Given the description of an element on the screen output the (x, y) to click on. 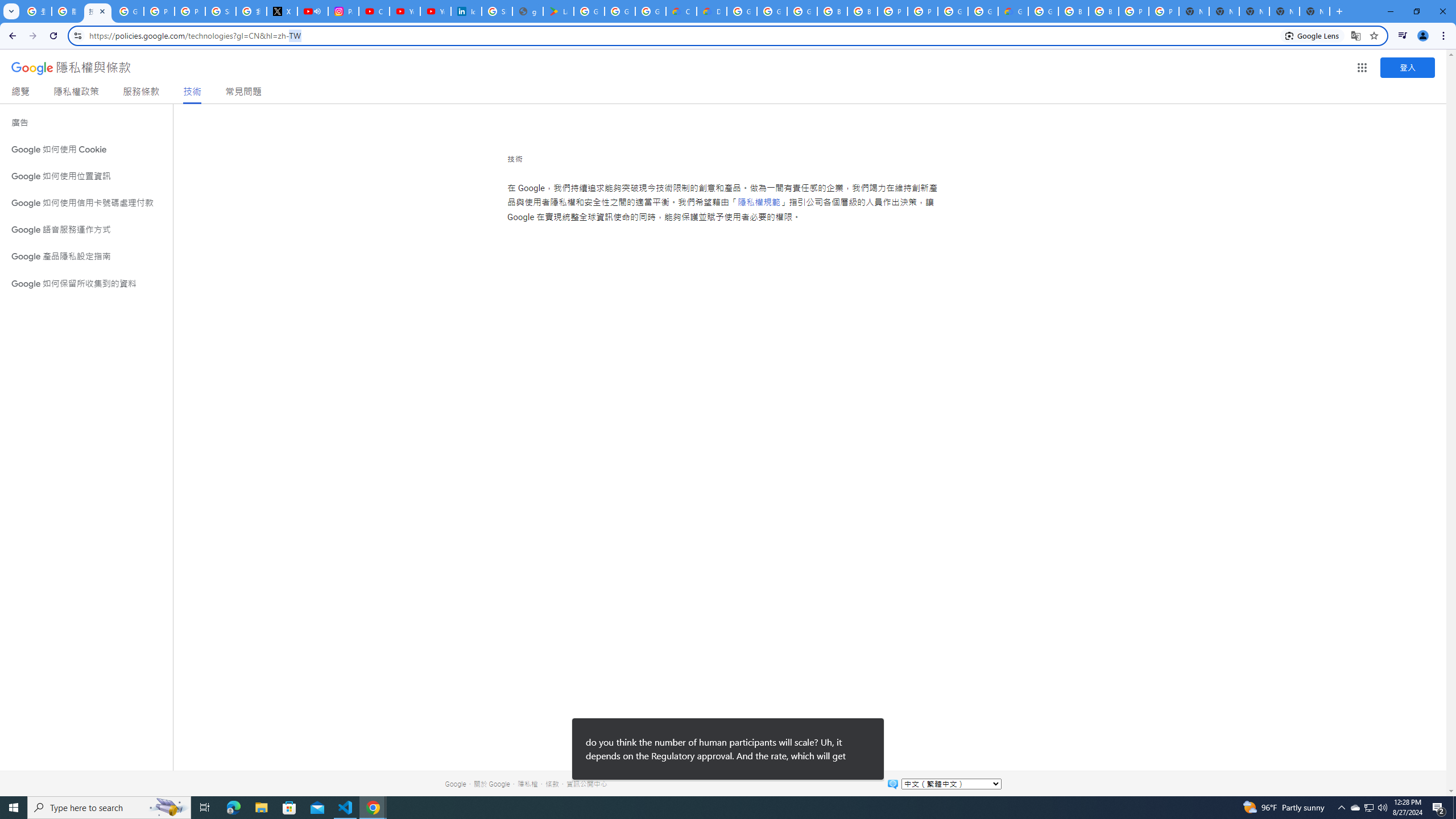
Sign in - Google Accounts (496, 11)
Google Workspace - Specific Terms (650, 11)
Privacy Help Center - Policies Help (158, 11)
